Given the description of an element on the screen output the (x, y) to click on. 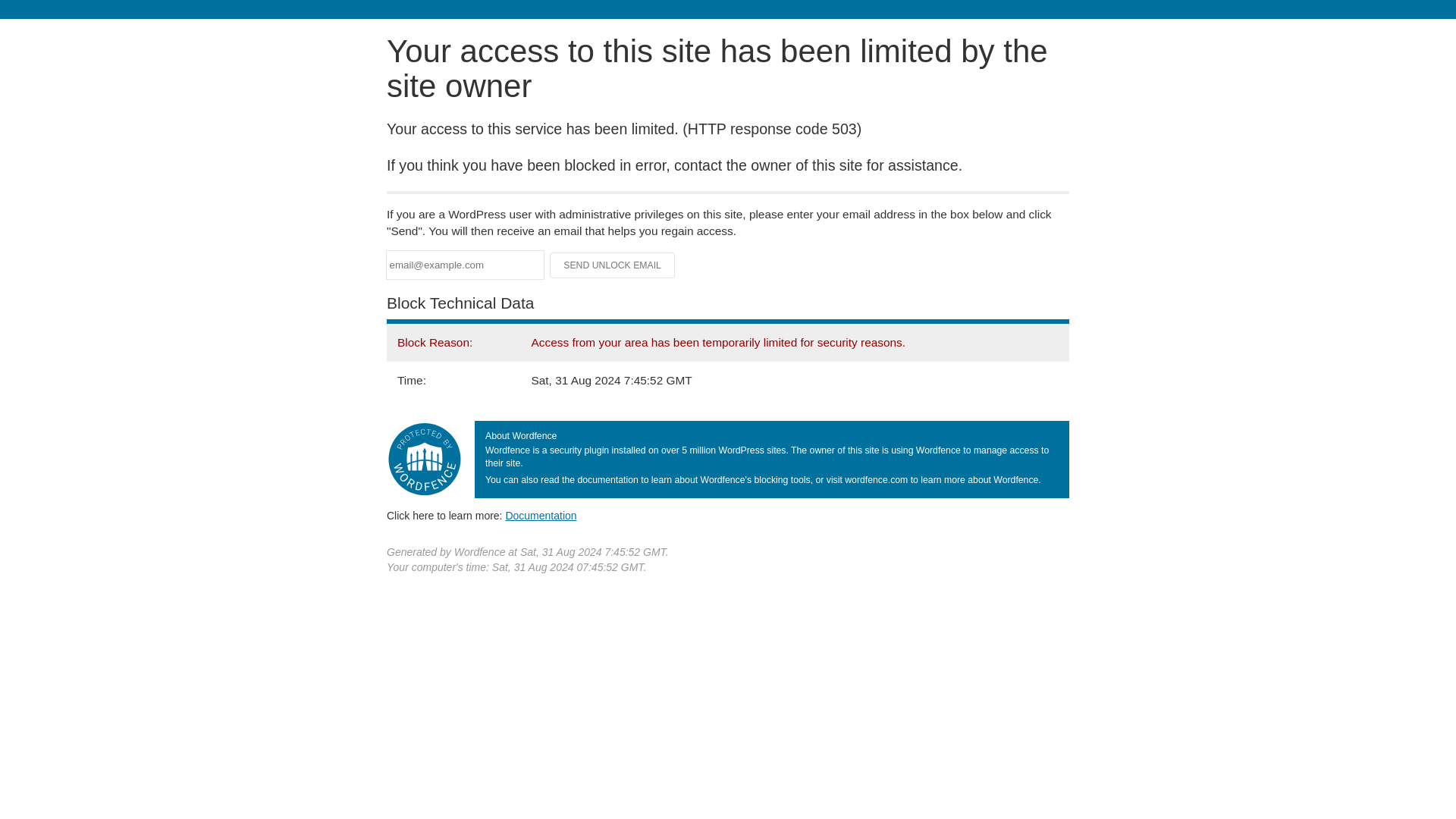
Send Unlock Email (612, 265)
Send Unlock Email (612, 265)
Documentation (540, 515)
